Given the description of an element on the screen output the (x, y) to click on. 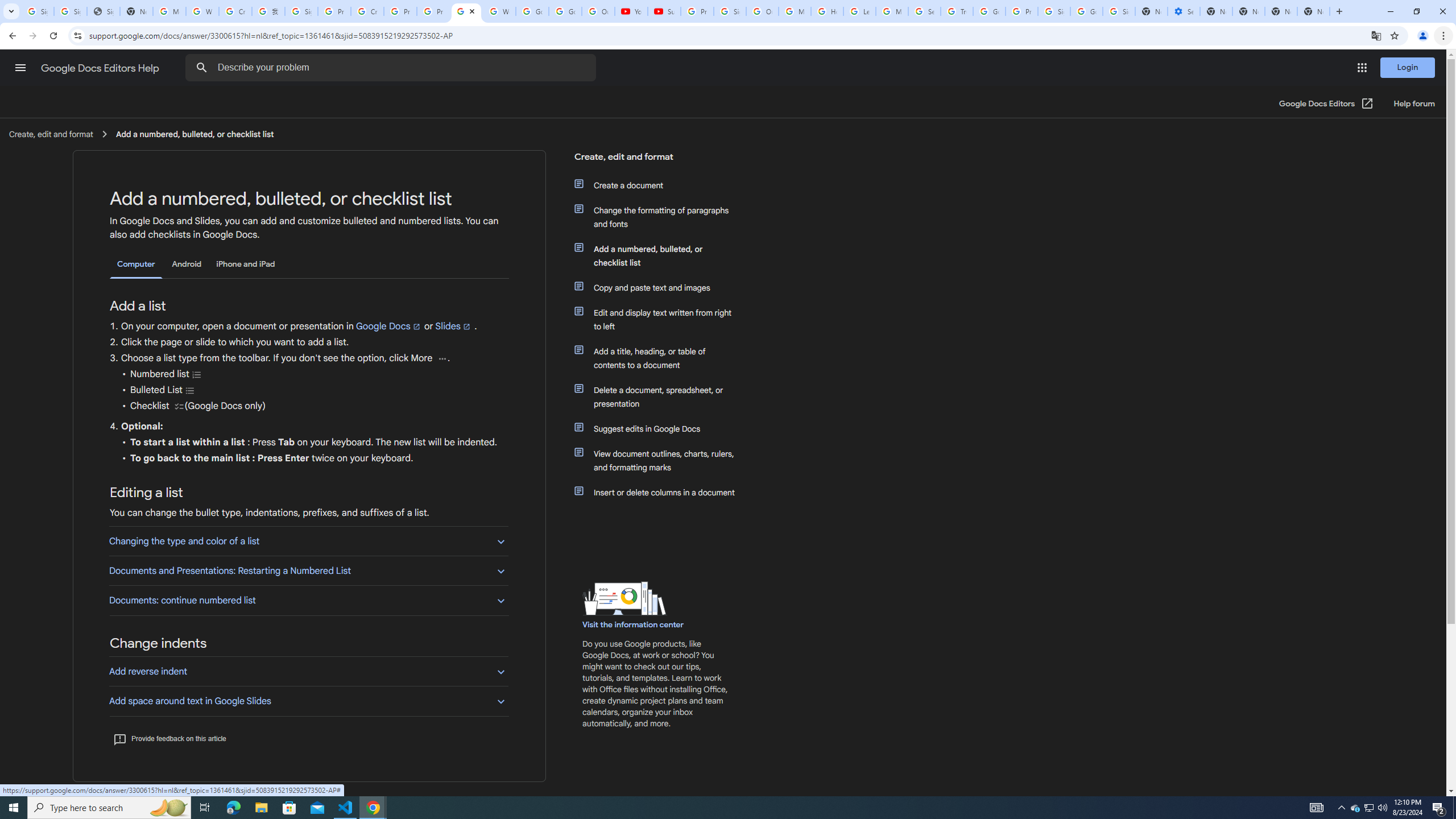
Add a numbered, bulleted, or checklist list (661, 255)
Help forum (1414, 103)
Settings - Performance (1183, 11)
Edit and display text written from right to left (661, 319)
View document outlines, charts, rulers, and formatting marks (661, 460)
Slides (453, 326)
Login (1407, 67)
New Tab (1313, 11)
